Given the description of an element on the screen output the (x, y) to click on. 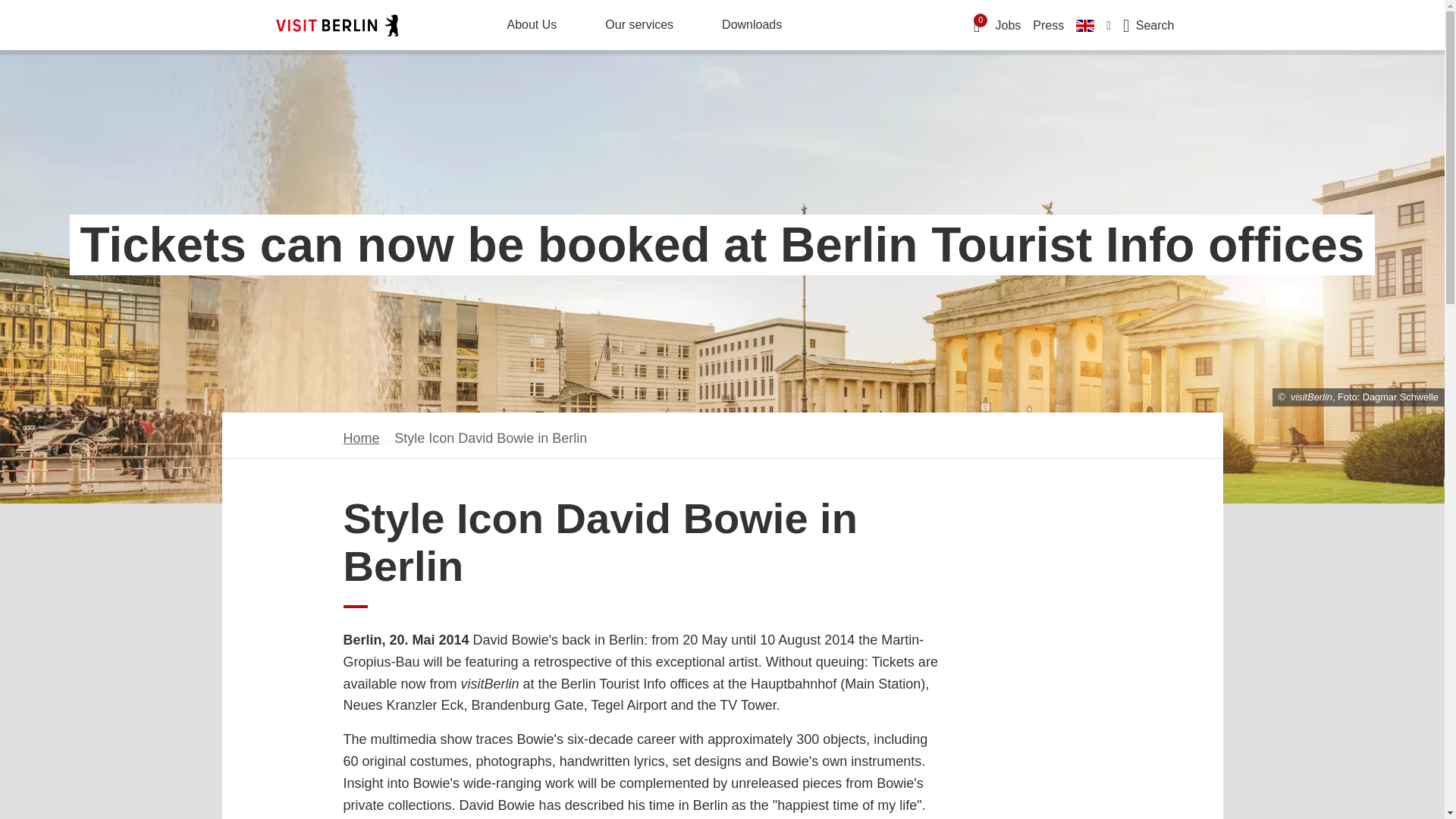
Press (1048, 24)
Our services (638, 24)
About Us (530, 24)
Downloads (751, 24)
